Given the description of an element on the screen output the (x, y) to click on. 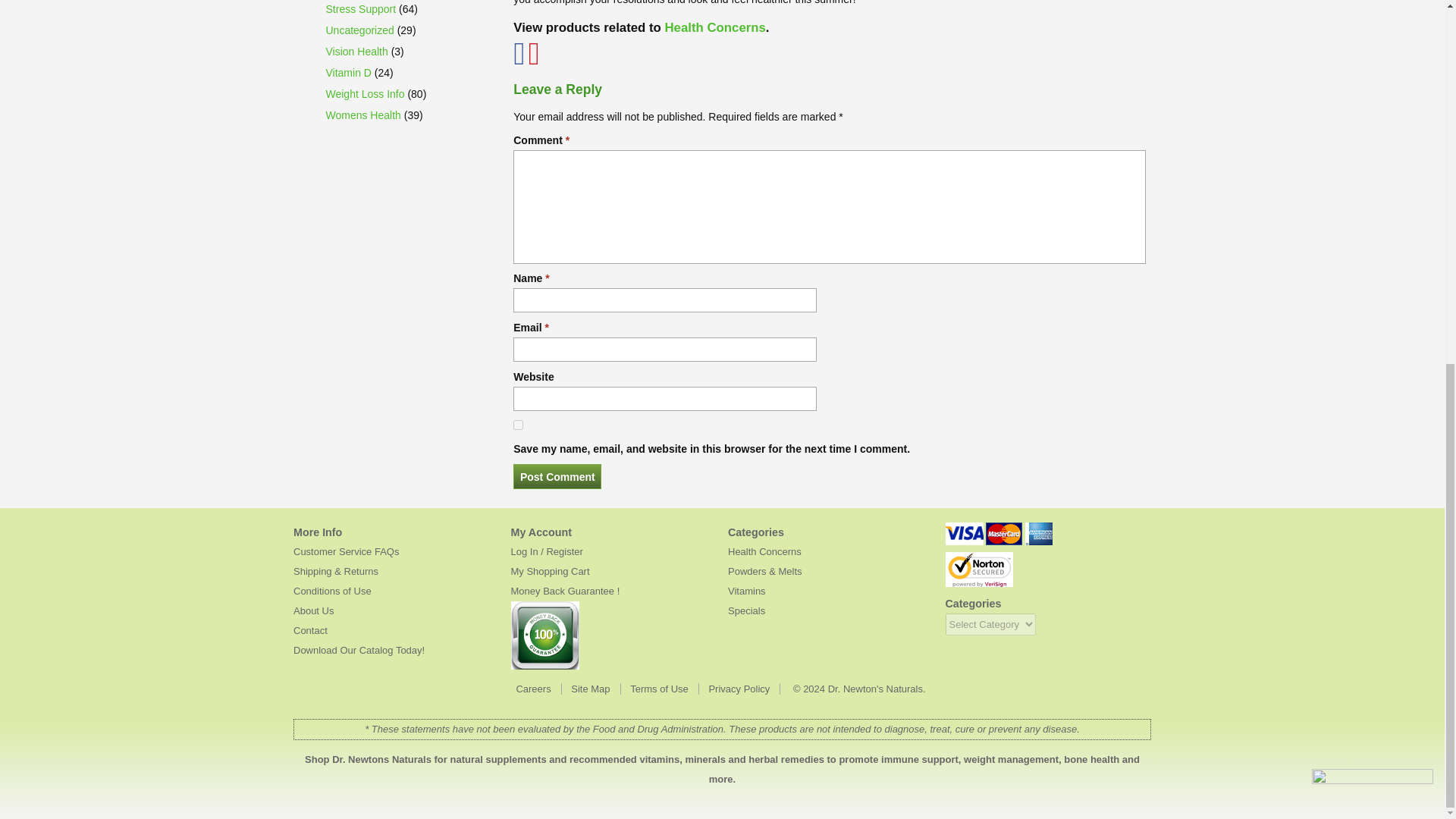
Post Comment (557, 476)
yes (517, 424)
